Given the description of an element on the screen output the (x, y) to click on. 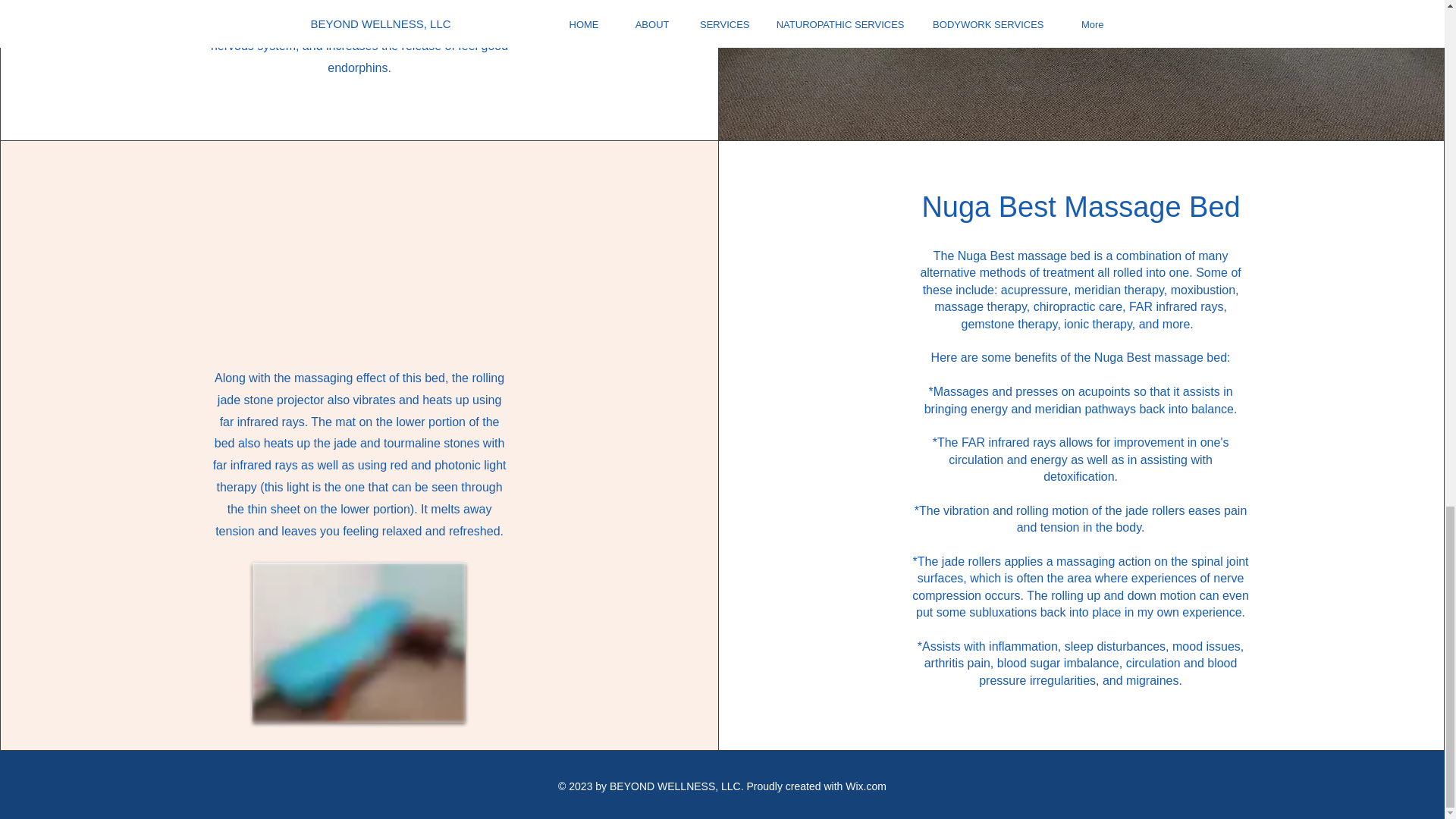
Wix.com (865, 786)
